Given the description of an element on the screen output the (x, y) to click on. 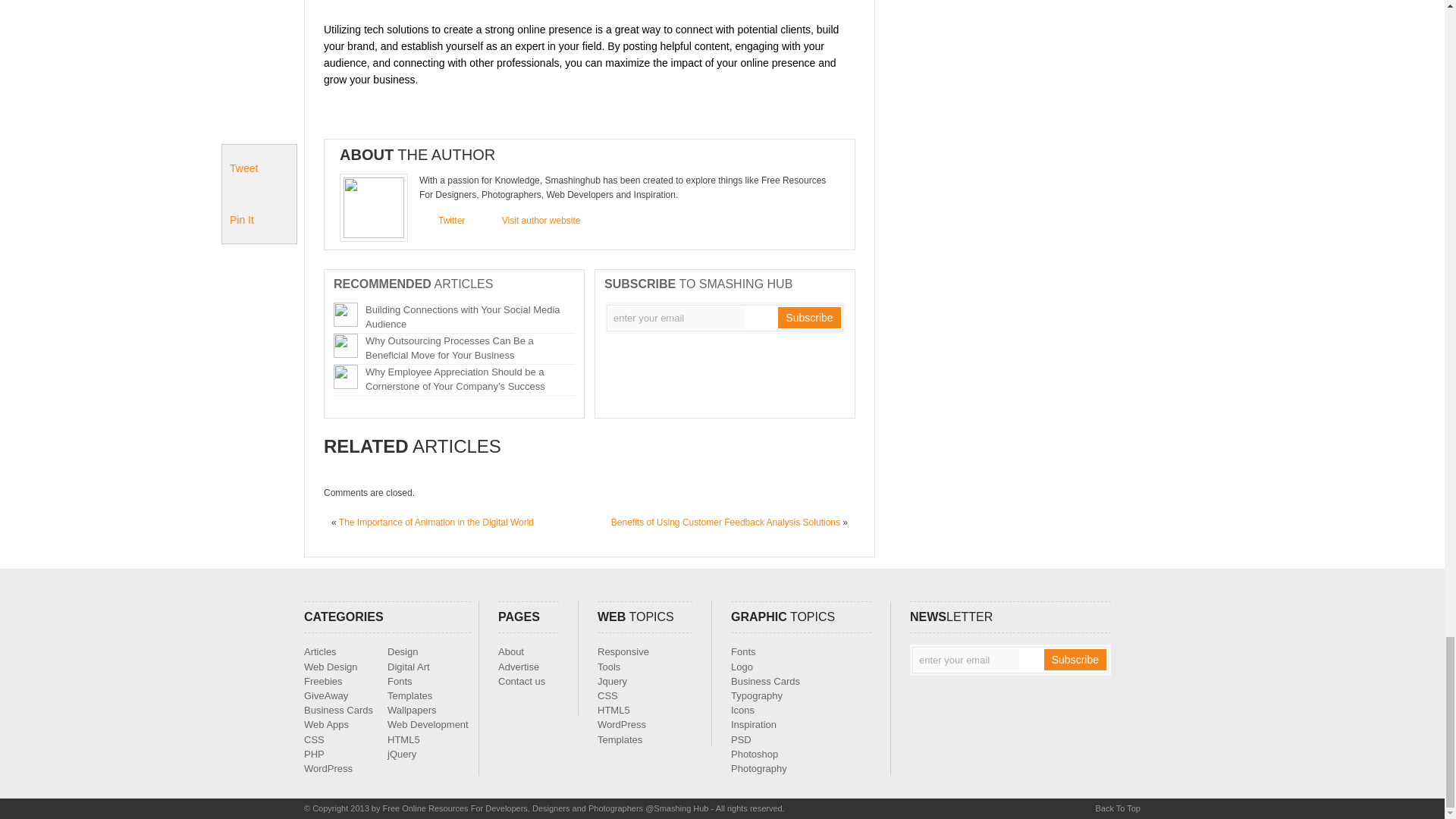
Enter your email (676, 318)
Subscribe (1074, 659)
Enter your email (966, 659)
Subscribe (808, 317)
Building Connections with Your Social Media Audience (462, 316)
